Given the description of an element on the screen output the (x, y) to click on. 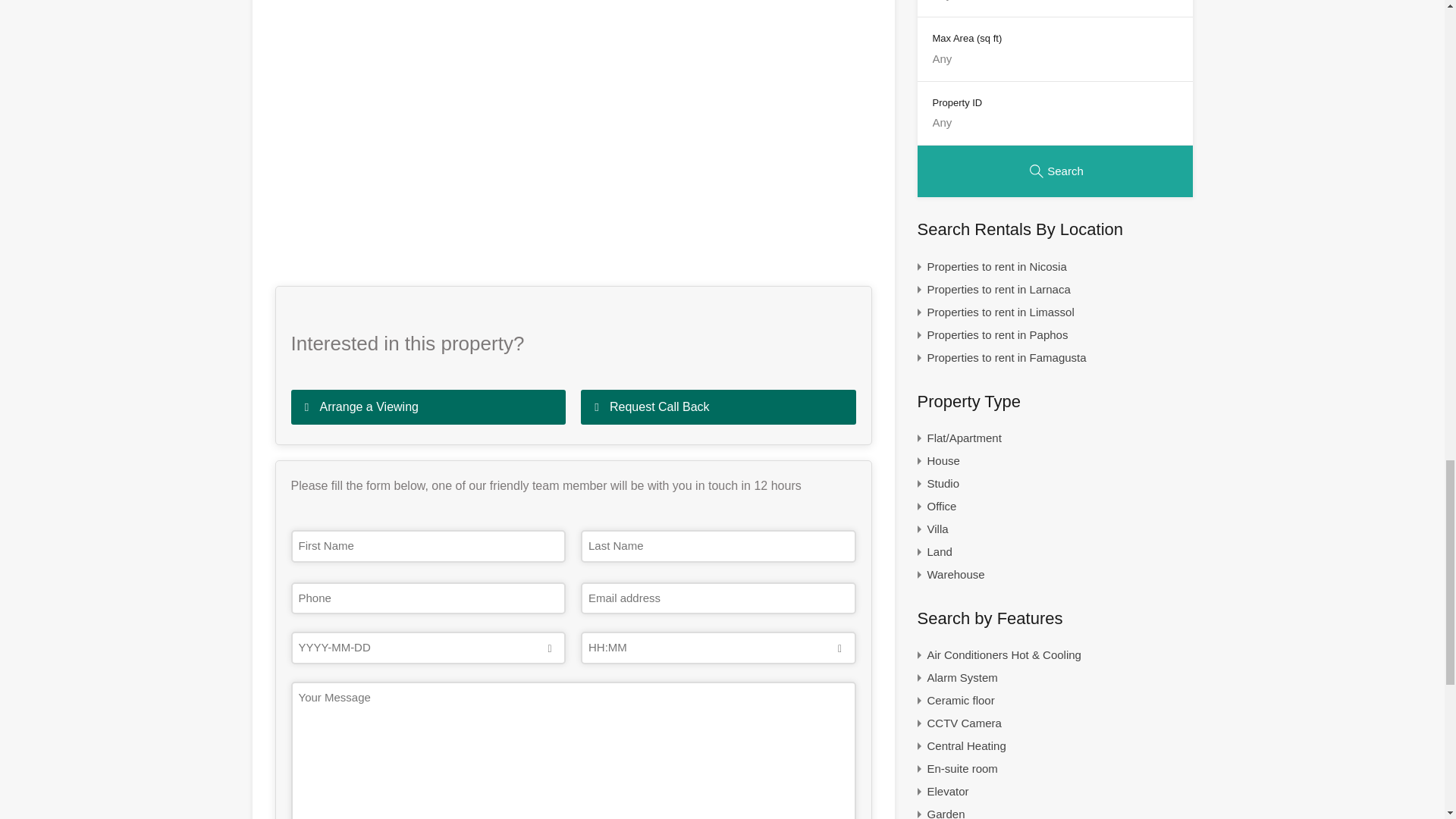
Properties to rent in Nicosia (995, 266)
Only provide digits! (1054, 66)
Properties to rent in Limassol (1000, 312)
Properties to rent in Larnaca (998, 289)
Search (1054, 171)
Only provide digits! (1054, 8)
